Given the description of an element on the screen output the (x, y) to click on. 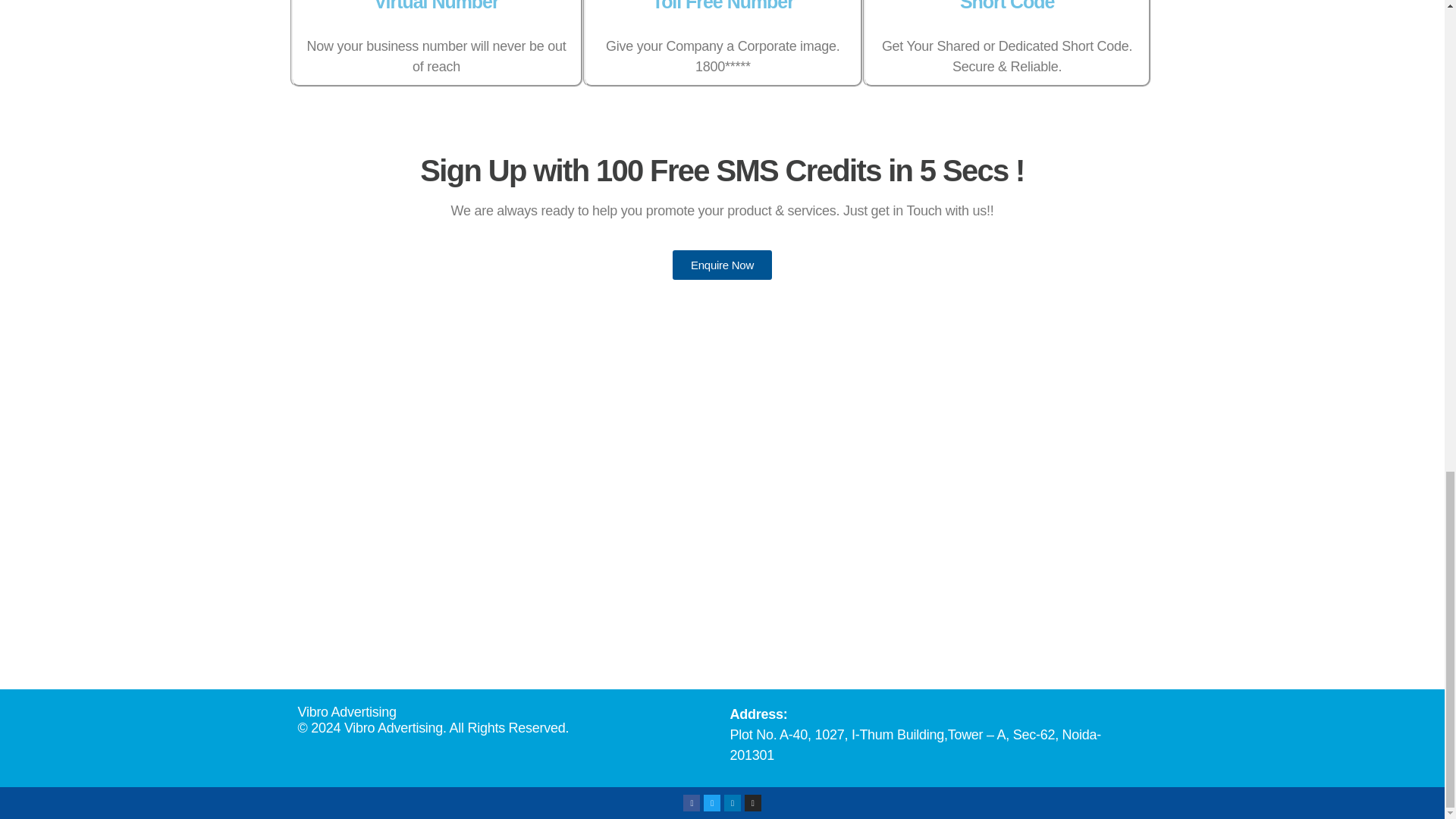
Short Code (1006, 6)
Virtual Number (435, 6)
Toll Free Number (722, 6)
Enquire Now (721, 265)
